Given the description of an element on the screen output the (x, y) to click on. 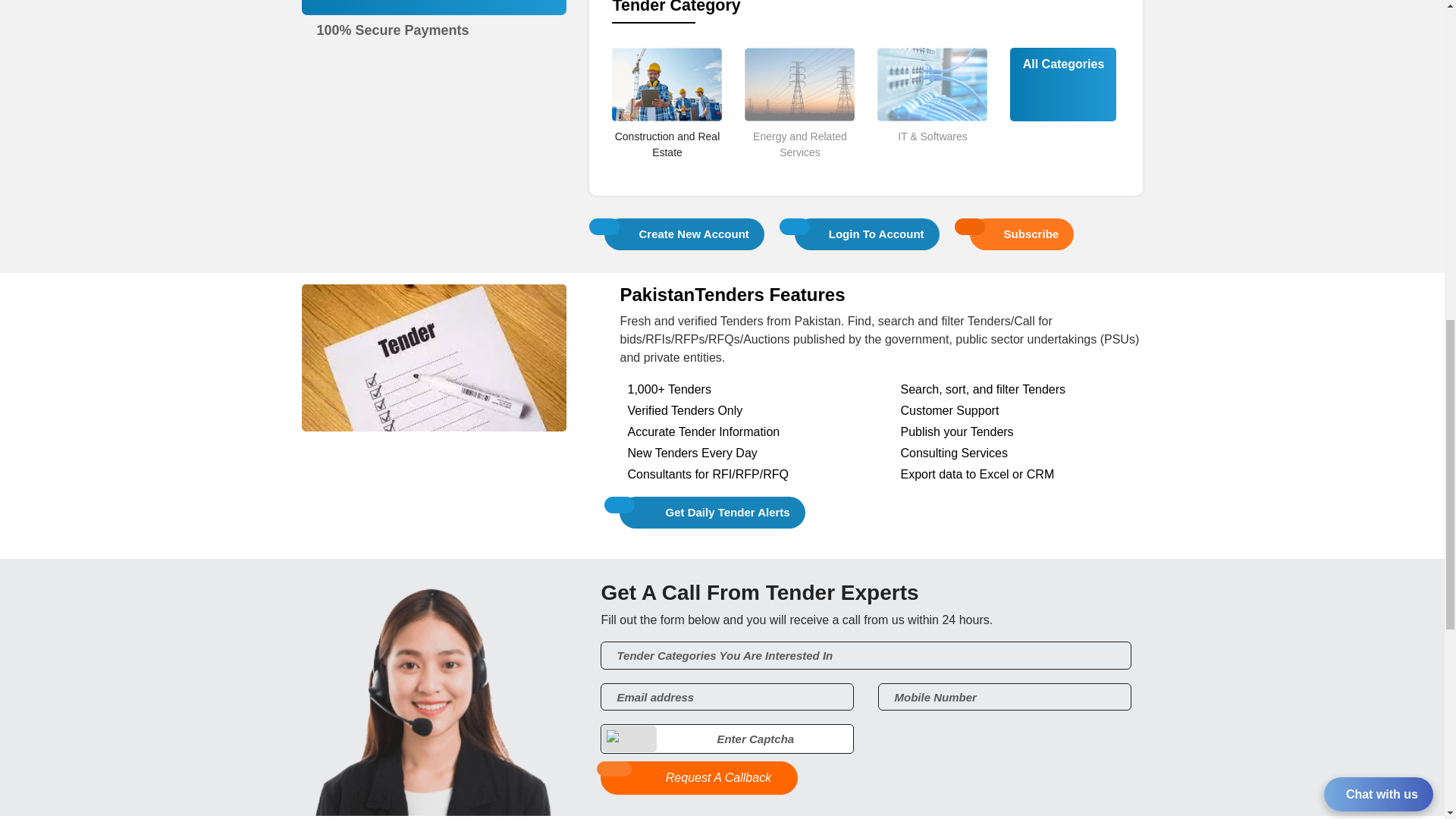
Create New Account (684, 233)
All Categories (1062, 64)
Get Daily Tender Alerts (712, 512)
Subscription Plans (434, 15)
Construction and Real Estate (666, 170)
Login To Account (866, 233)
Subscribe (1022, 233)
Request A Callback (698, 777)
Energy and Related Services (799, 170)
